Given the description of an element on the screen output the (x, y) to click on. 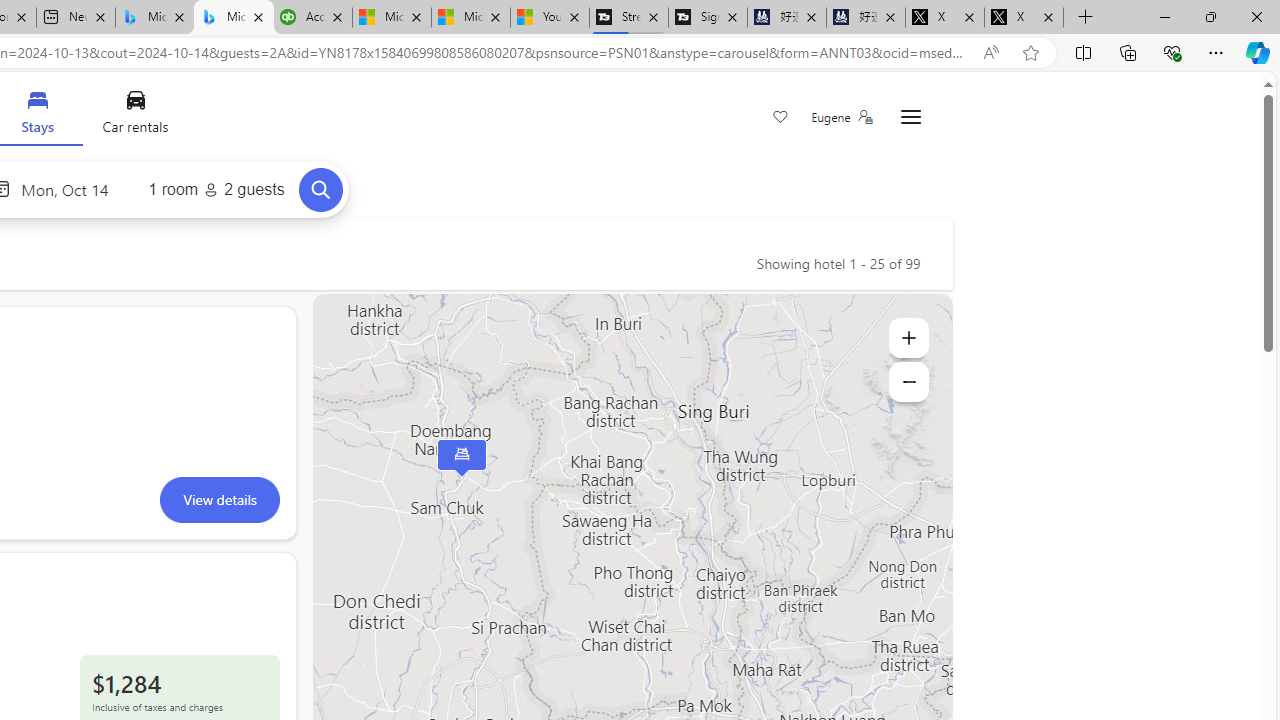
Close tab (1048, 16)
Microsoft Bing Travel - Stays in Bangkok, Bangkok, Thailand (233, 17)
Accounting Software for Accountants, CPAs and Bookkeepers (312, 17)
New Tab (1085, 17)
Zoom in (908, 337)
Settings and more (Alt+F) (1215, 52)
End date (70, 188)
Save (780, 118)
Save (780, 118)
New tab (76, 17)
Copilot (Ctrl+Shift+.) (1258, 52)
Microsoft Start (470, 17)
Restore (1210, 16)
Close (1256, 16)
Car rentals (134, 116)
